Given the description of an element on the screen output the (x, y) to click on. 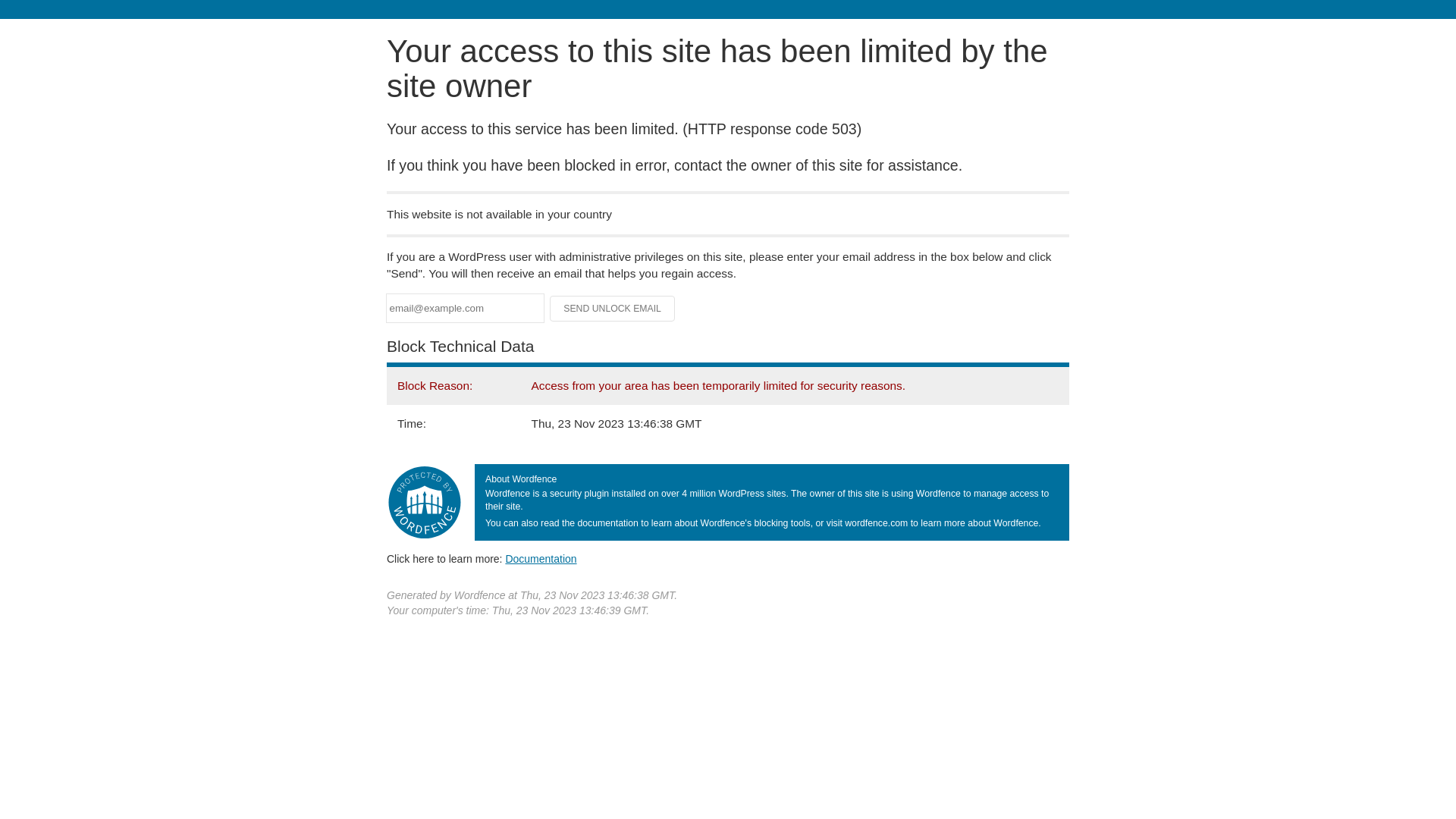
Send Unlock Email Element type: text (612, 308)
Documentation Element type: text (540, 558)
